Given the description of an element on the screen output the (x, y) to click on. 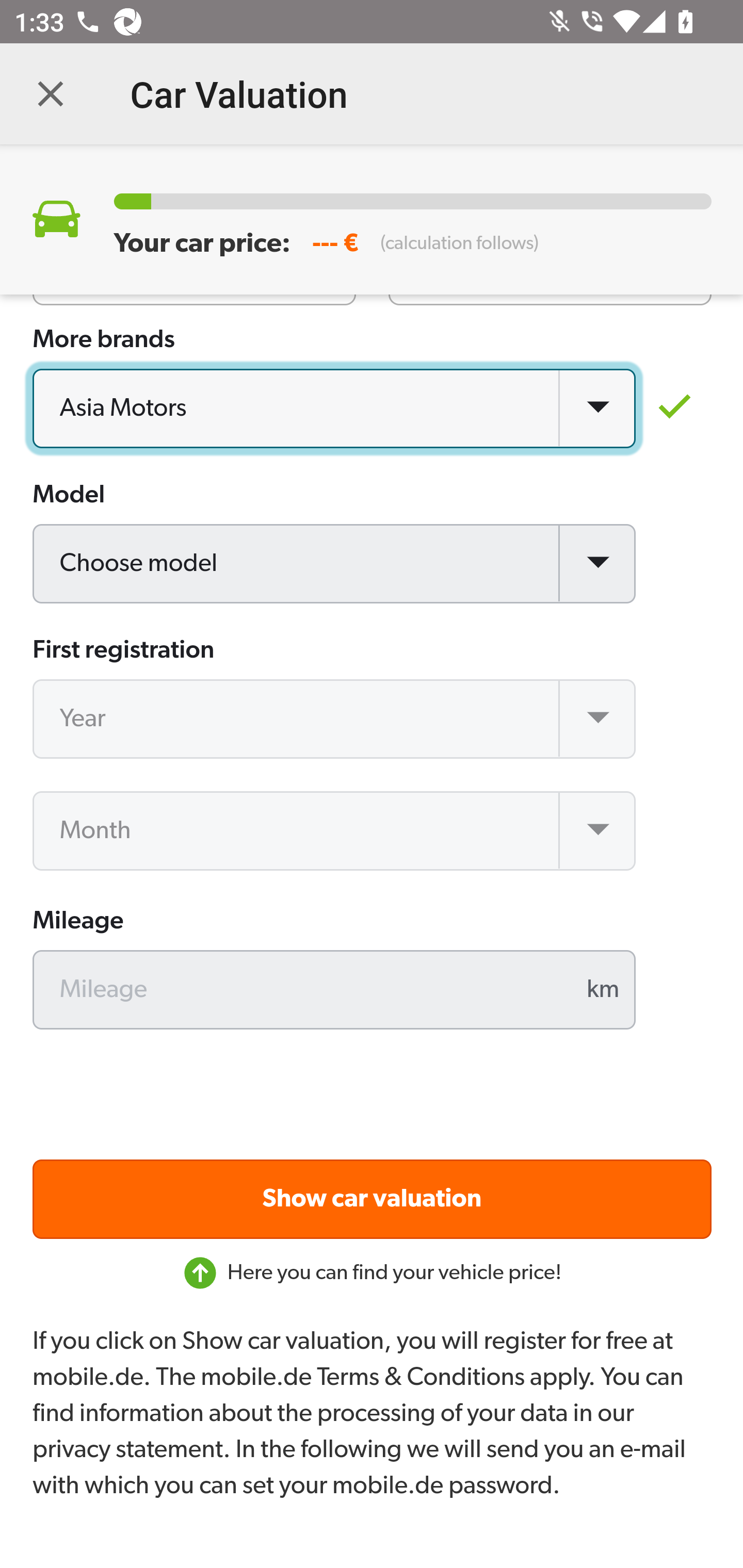
Navigate up (50, 93)
Asia Motors (334, 409)
Choose model (334, 564)
Year (334, 720)
Month (334, 831)
Show car valuation (372, 1199)
